Given the description of an element on the screen output the (x, y) to click on. 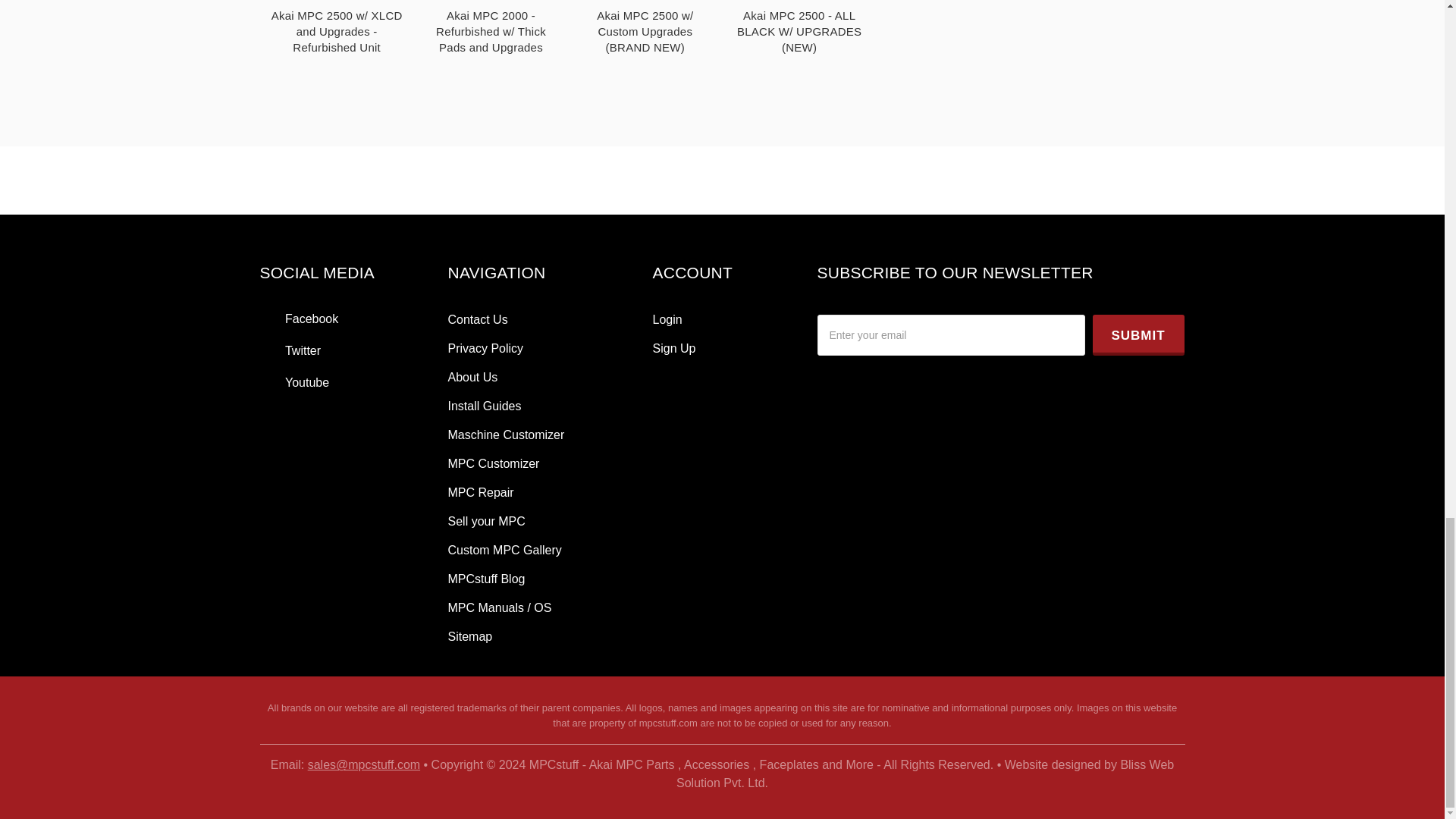
Submit (1137, 334)
